Given the description of an element on the screen output the (x, y) to click on. 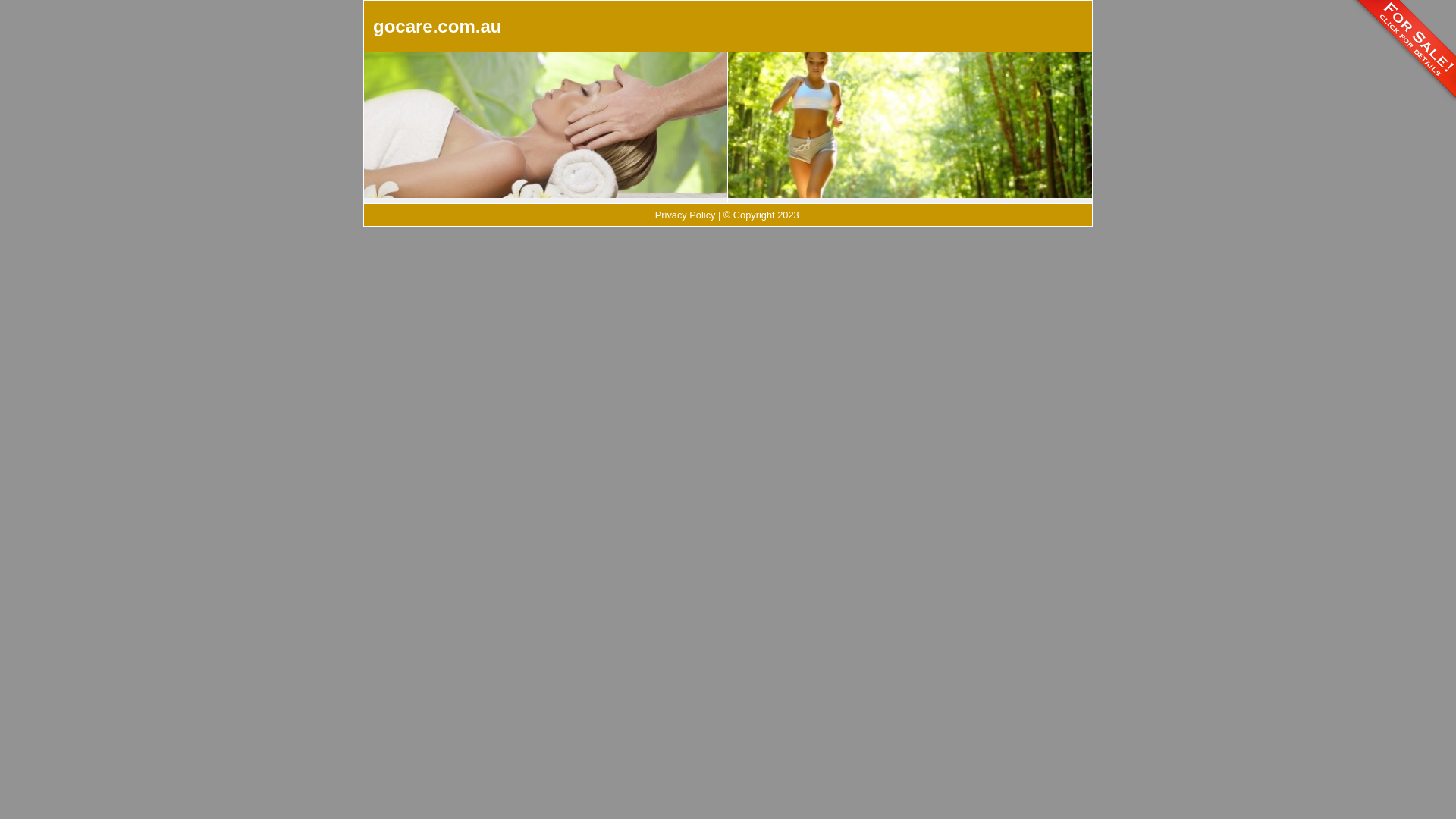
gocare.com.au Element type: text (437, 25)
Privacy Policy Element type: text (685, 214)
